Given the description of an element on the screen output the (x, y) to click on. 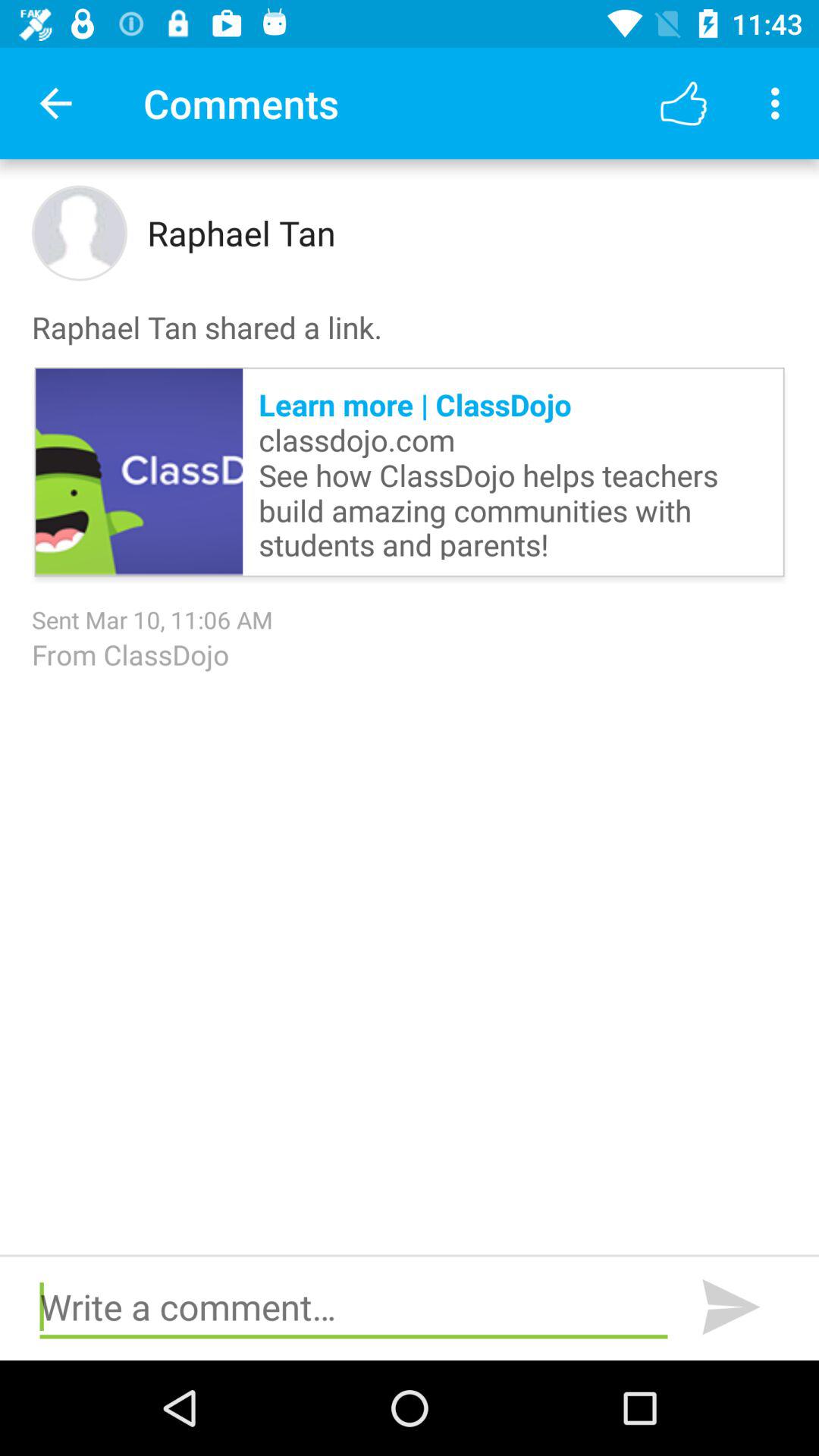
open the icon below the raphael tan shared item (512, 471)
